Given the description of an element on the screen output the (x, y) to click on. 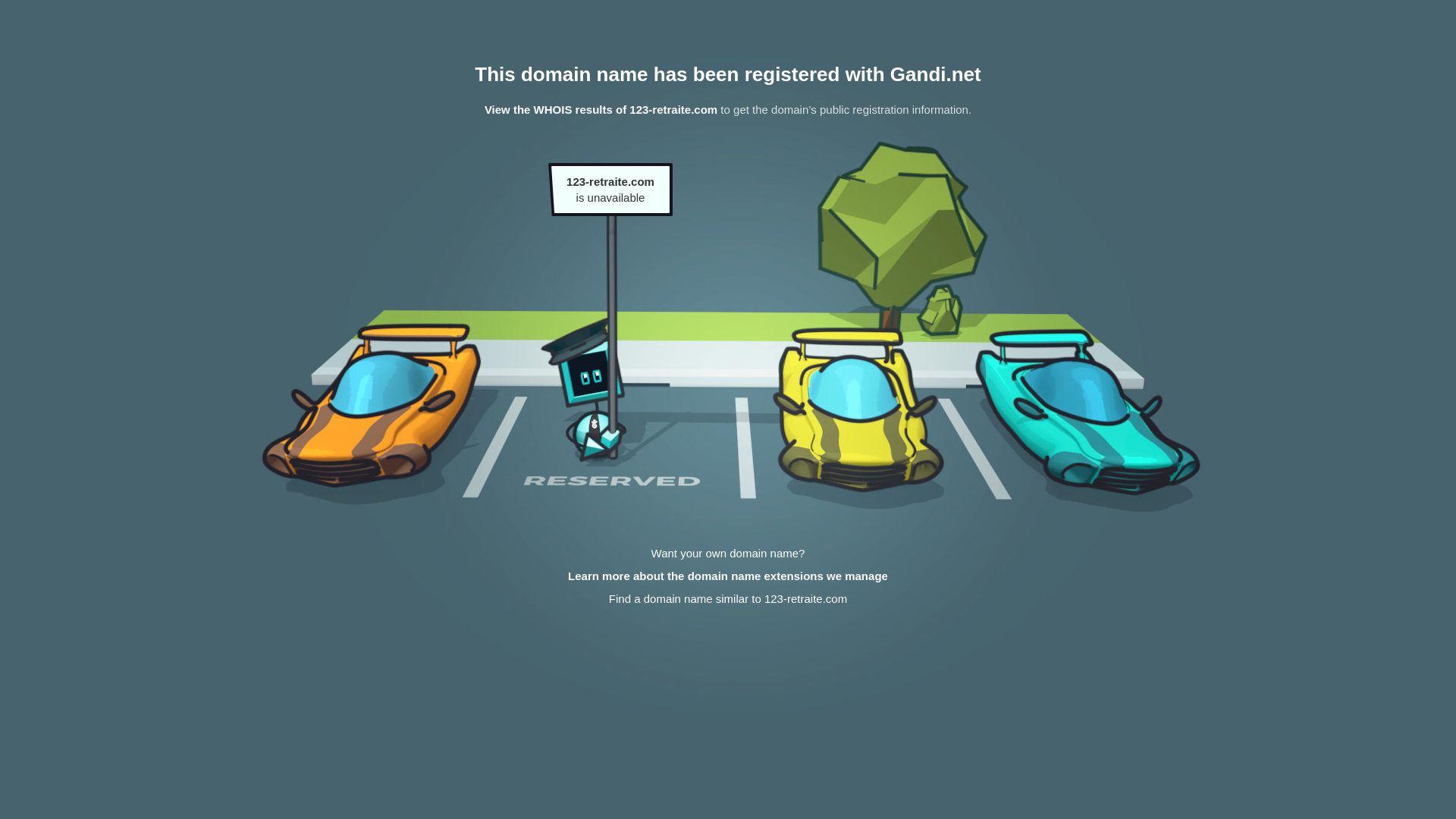
Learn more about the domain name extensions we manage Element type: text (727, 575)
Find a domain name similar to 123-retraite.com Element type: text (727, 598)
View the WHOIS results of 123-retraite.com Element type: text (600, 109)
